Given the description of an element on the screen output the (x, y) to click on. 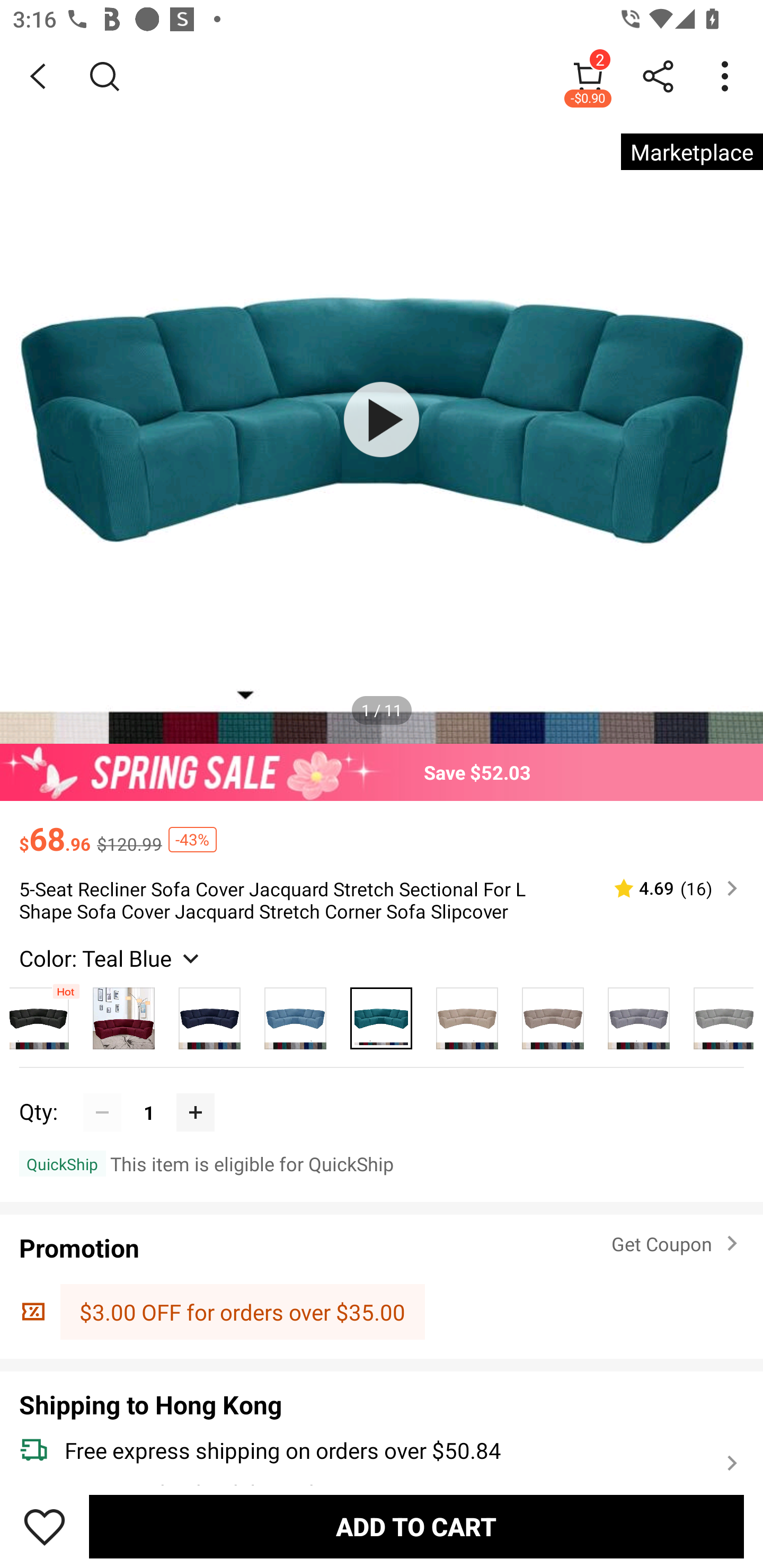
PHOTOS Marketplace 1 / 11 (381, 419)
BACK (38, 75)
2 -$0.90 (588, 75)
1 / 11 (381, 710)
Save $52.03 (381, 772)
Save $52.03 (381, 772)
$68.96 $120.99 -43% (381, 830)
4.69 (16) (667, 887)
Color: Teal Blue (111, 957)
Black (44, 1013)
Burgundy (123, 1013)
Navy Blue (209, 1013)
Baby Blue (295, 1013)
Teal Blue (381, 1013)
Khaki (467, 1013)
Camel (552, 1013)
silver gray (638, 1013)
Light Grey (717, 1013)
Qty: 1 (381, 1092)
  QuickShip   This item is eligible for QuickShip (381, 1163)
ADD TO CART (416, 1526)
Save (44, 1526)
